Given the description of an element on the screen output the (x, y) to click on. 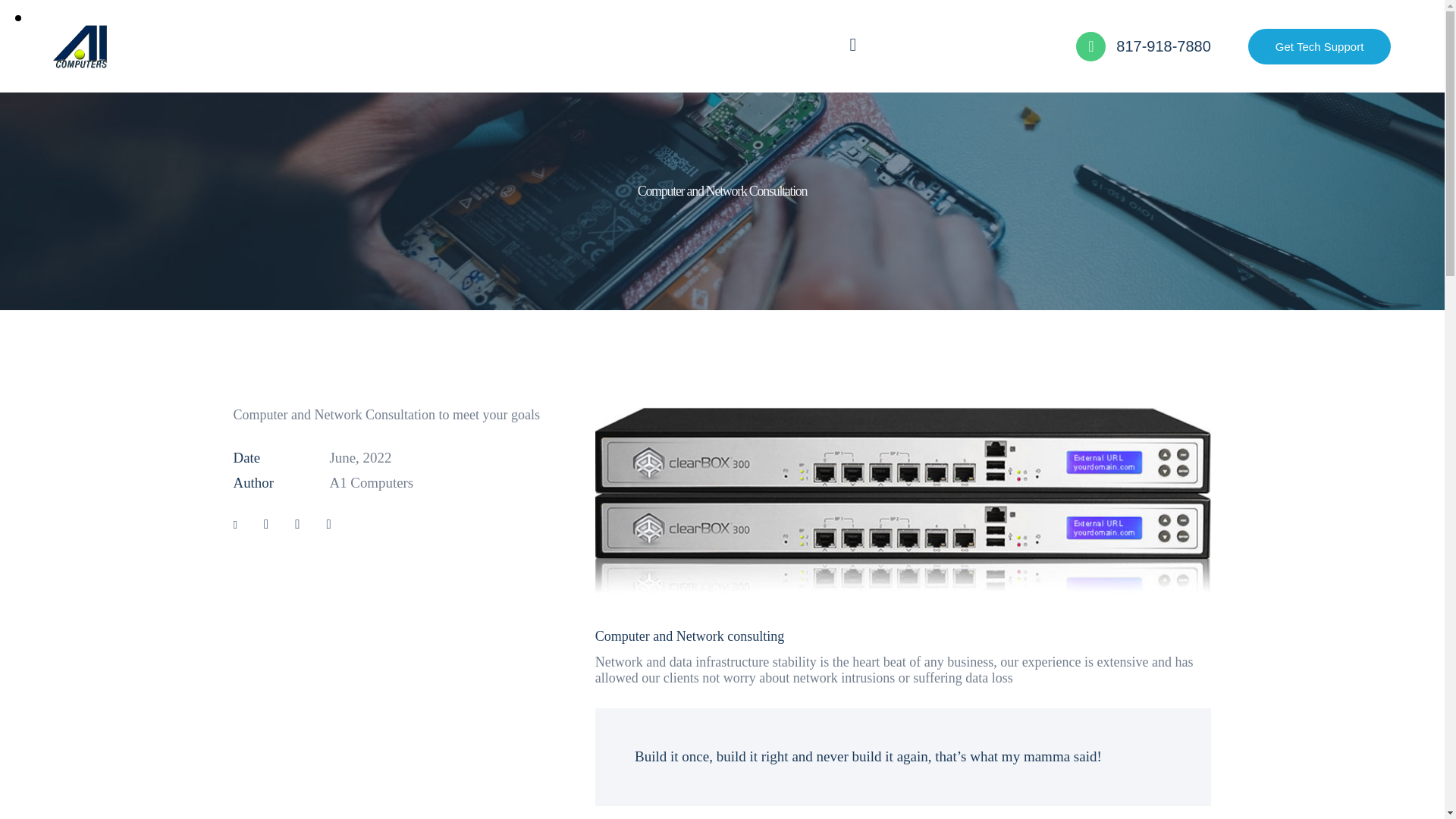
817-918-7880 (1143, 46)
Get Tech Support (1318, 46)
